Given the description of an element on the screen output the (x, y) to click on. 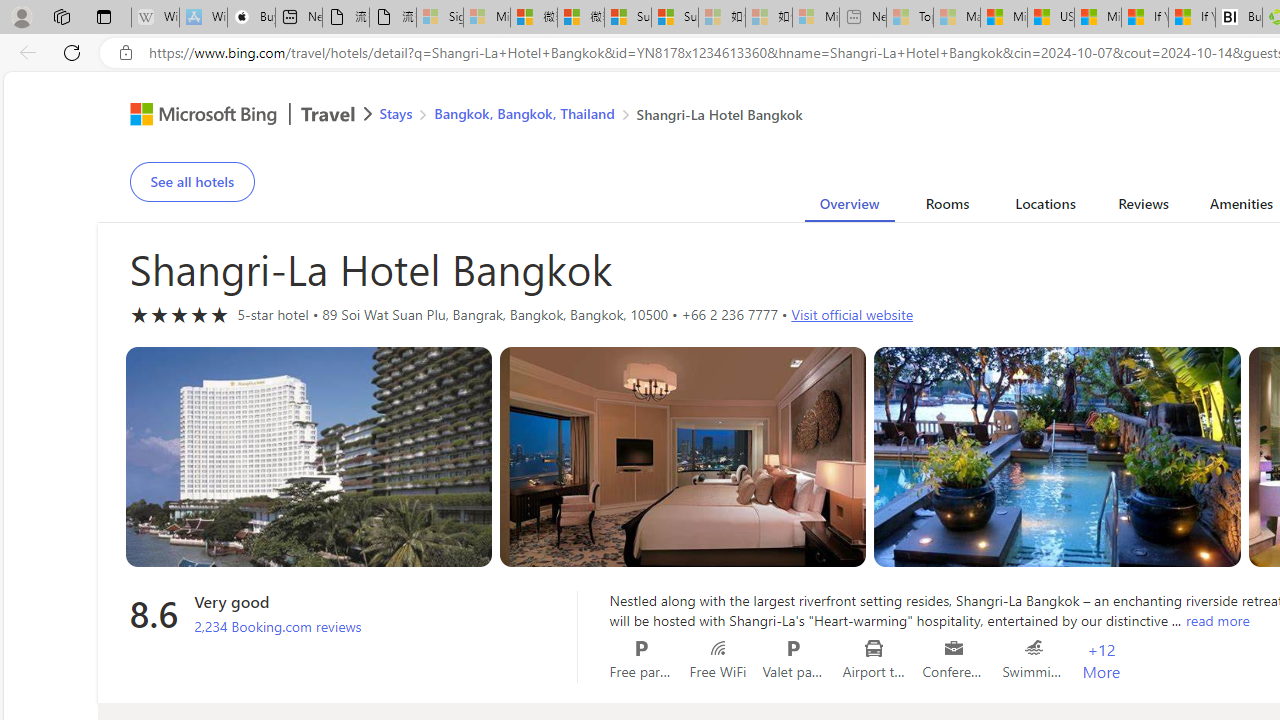
Bangkok, Bangkok, Thailand (523, 112)
Free WiFi (717, 647)
2,234 Booking.com reviews (278, 627)
Hotel room image (1057, 457)
Swimming pool (1034, 647)
Airport transportation (874, 647)
